Given the description of an element on the screen output the (x, y) to click on. 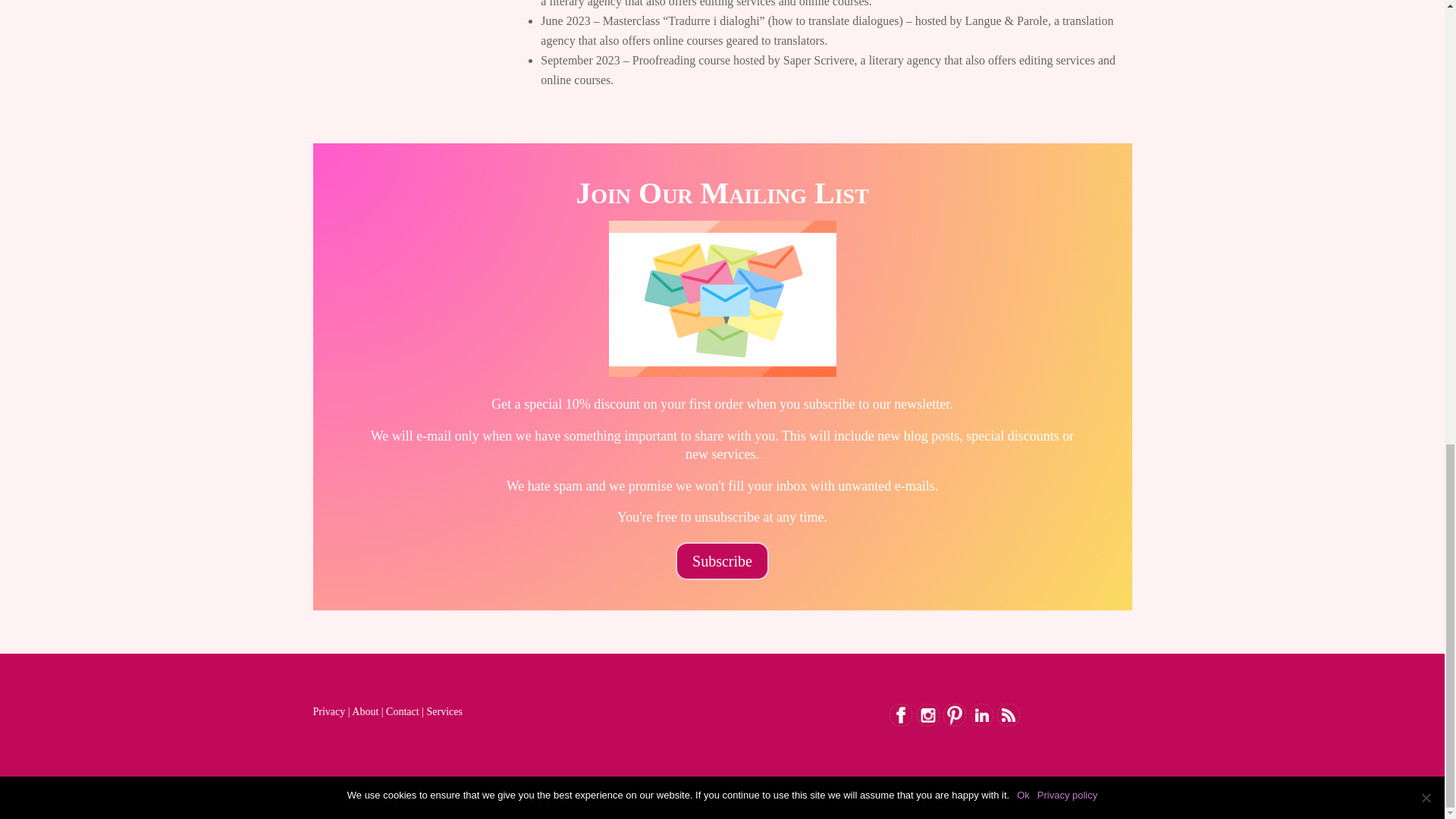
Services (443, 711)
Contact (402, 711)
Subscribe (721, 560)
Privacy (329, 711)
About (365, 711)
